Given the description of an element on the screen output the (x, y) to click on. 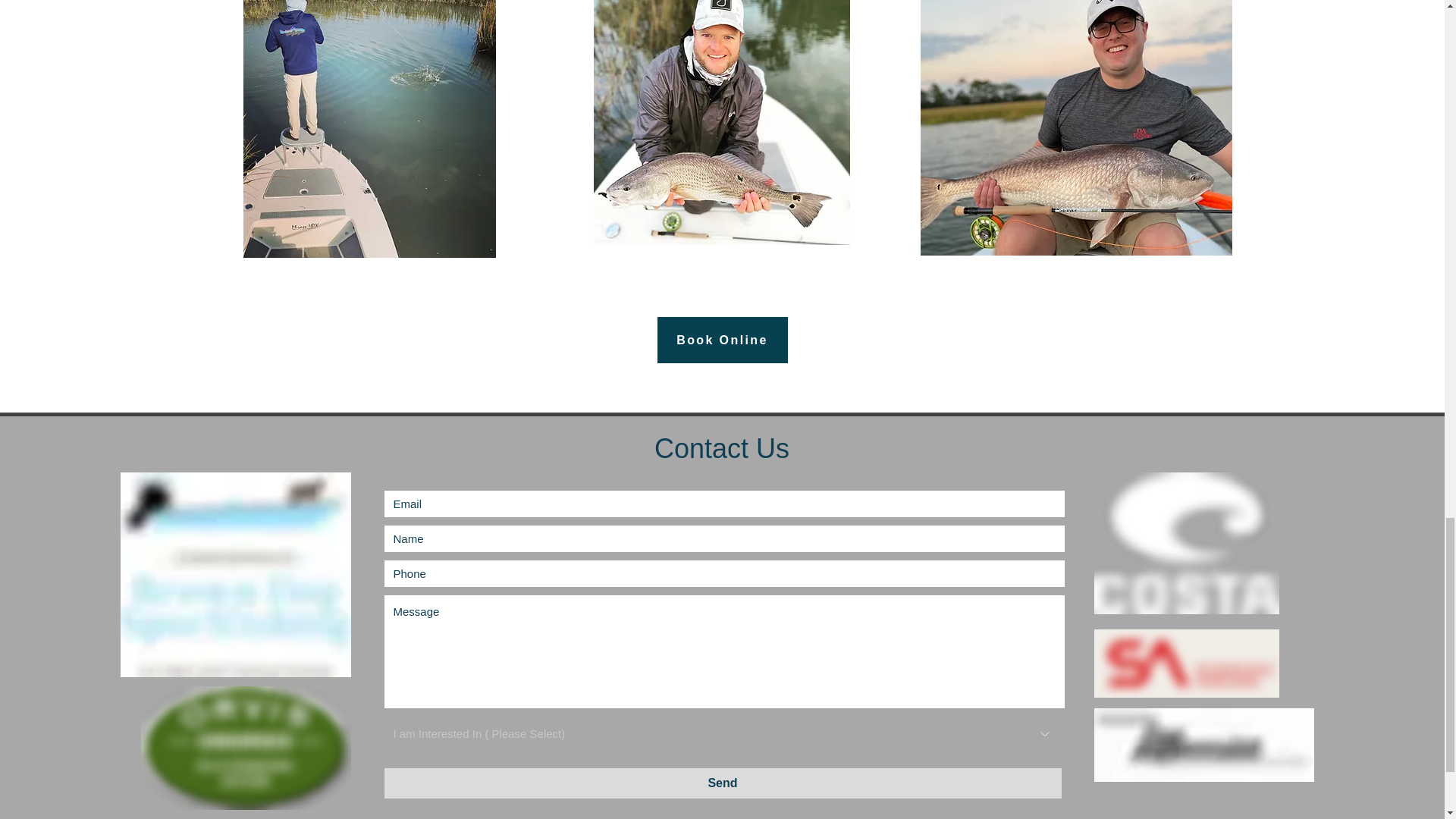
Send (722, 783)
Scientific-Anglers.png (1185, 663)
Book Online (721, 339)
image7.jpeg (369, 128)
maverick.jpg (1203, 745)
7E424B19-EC95-4C73-BADC-FDA1F9CA48C0.JPG (720, 122)
